Given the description of an element on the screen output the (x, y) to click on. 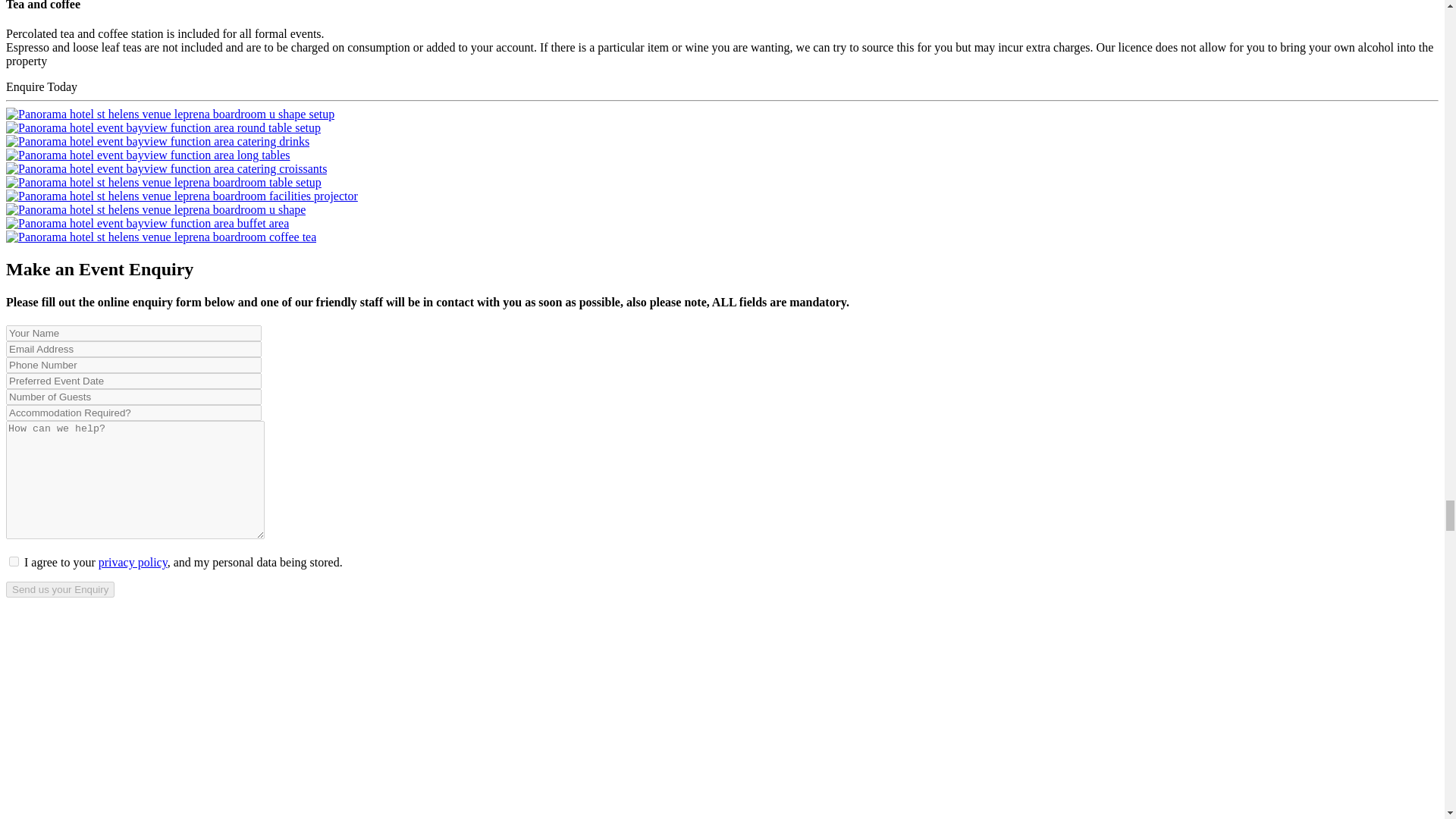
1 (13, 561)
Send us your Enquiry (60, 589)
